Given the description of an element on the screen output the (x, y) to click on. 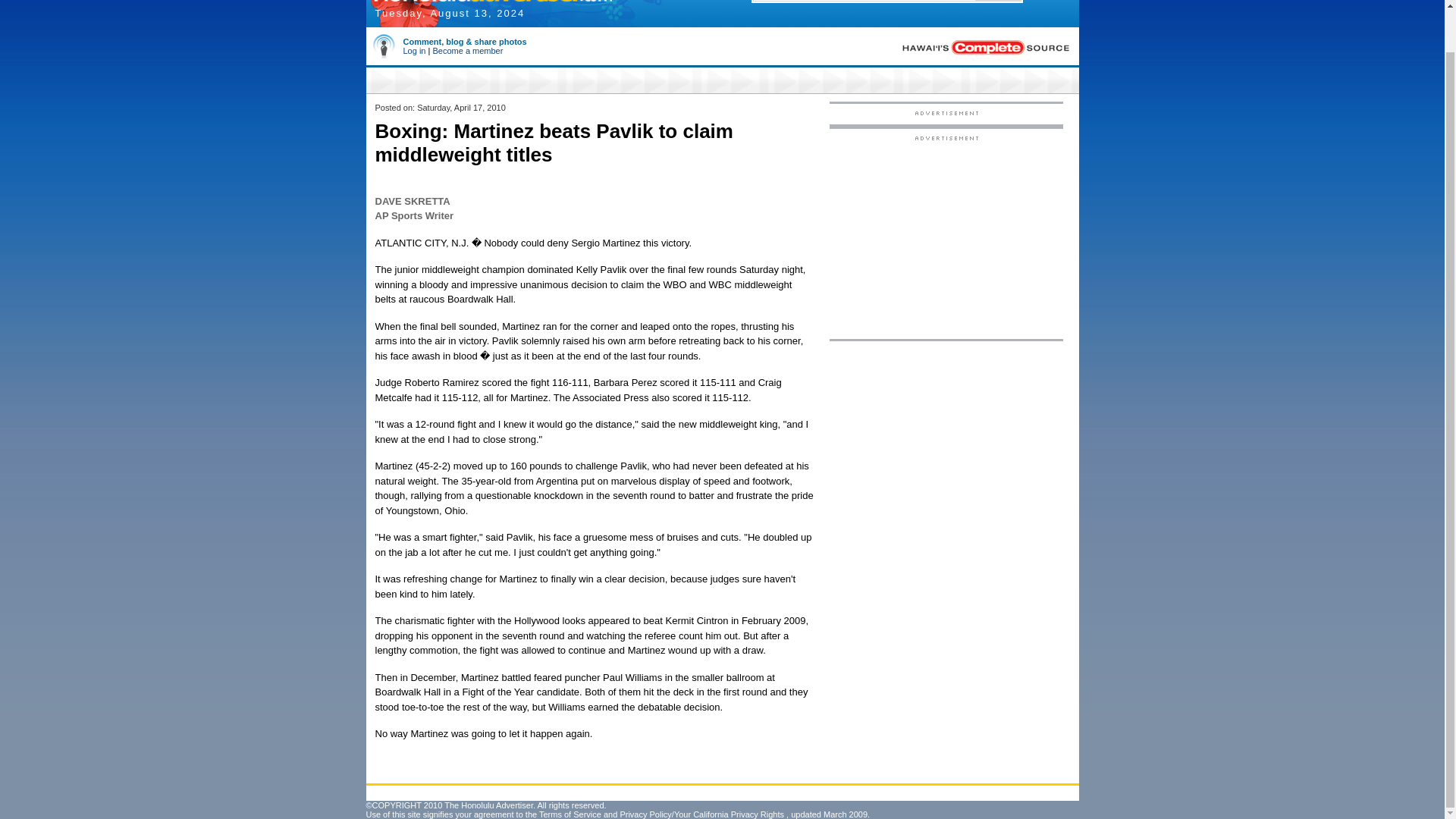
Become a member (467, 50)
Log in (414, 50)
Advertisement (945, 236)
